Given the description of an element on the screen output the (x, y) to click on. 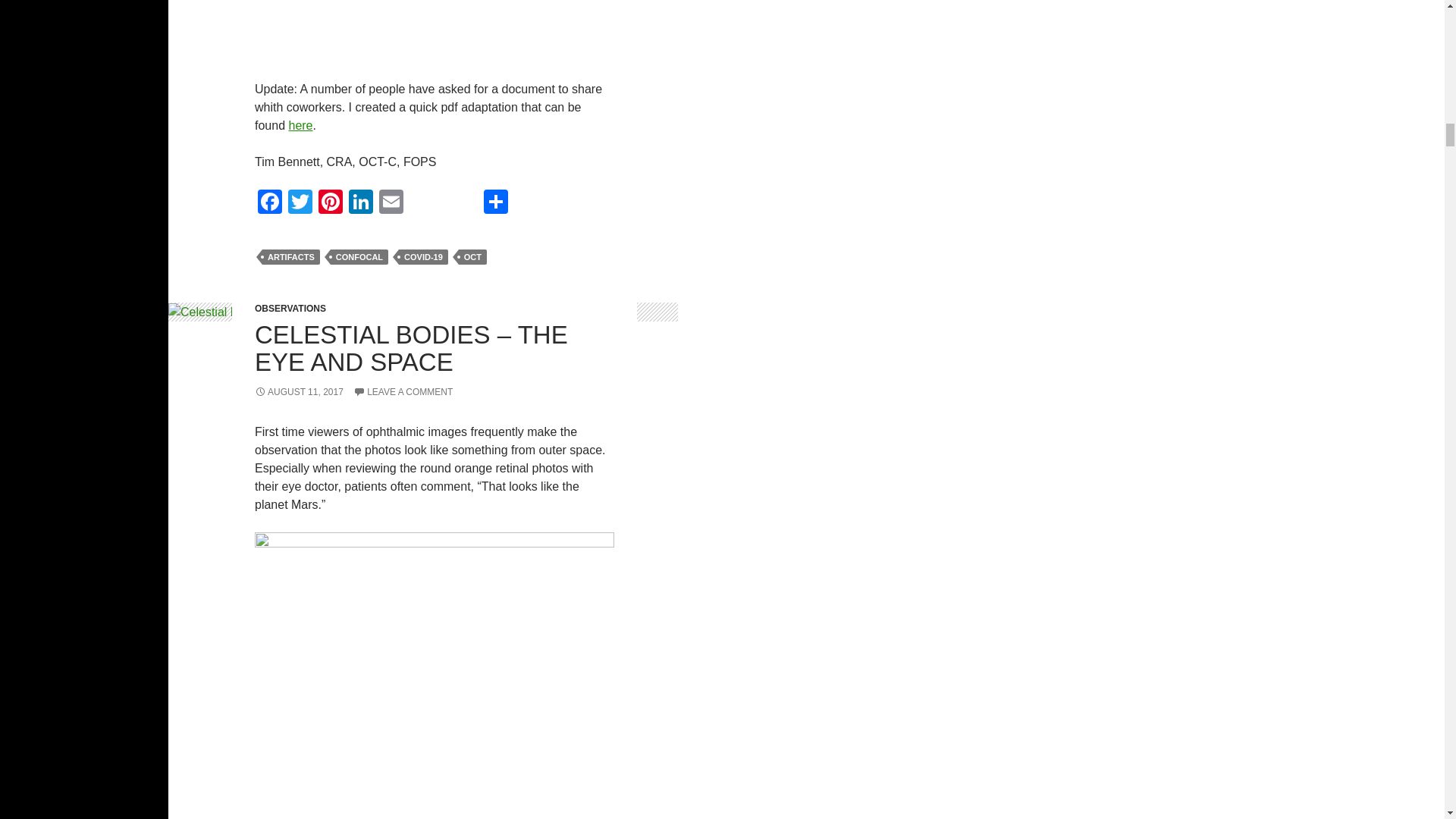
Facebook (269, 203)
Pinterest (330, 203)
Email (390, 203)
LinkedIn (360, 203)
Twitter (300, 203)
